Given the description of an element on the screen output the (x, y) to click on. 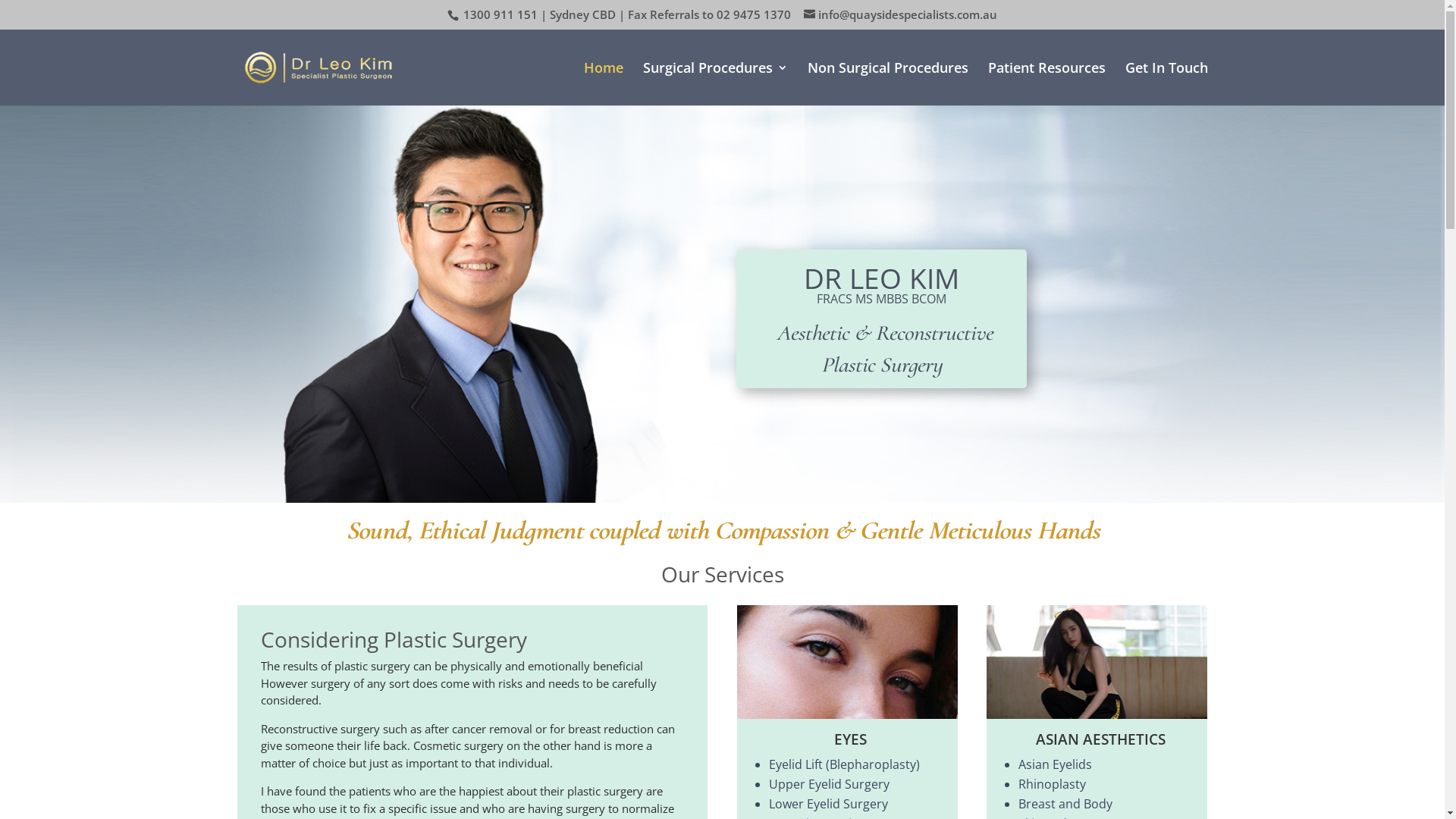
Patient Resources Element type: text (1045, 83)
info@quaysidespecialists.com.au Element type: text (900, 13)
Surgical Procedures Element type: text (715, 83)
Non Surgical Procedures Element type: text (886, 83)
Get In Touch Element type: text (1166, 83)
Home Element type: text (603, 83)
